Given the description of an element on the screen output the (x, y) to click on. 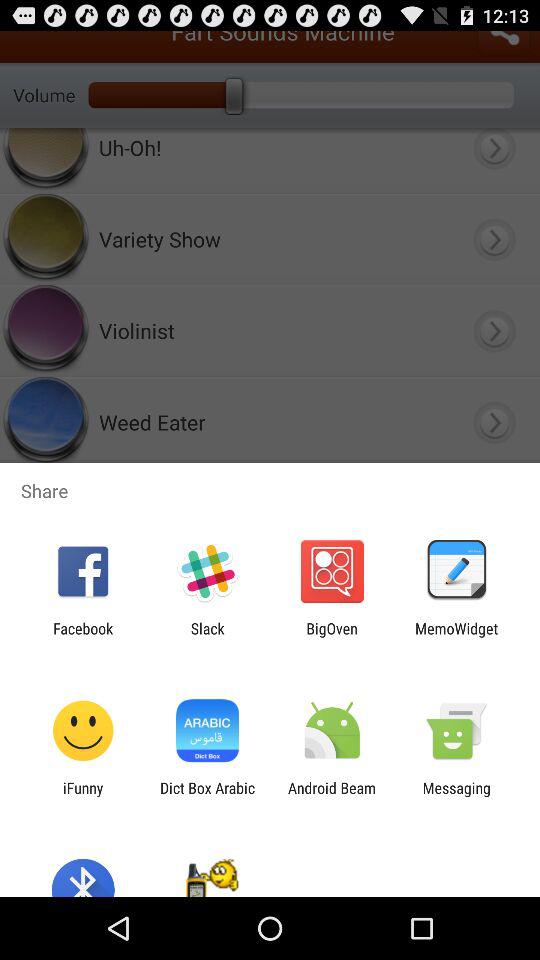
select the icon to the left of messaging app (332, 796)
